Given the description of an element on the screen output the (x, y) to click on. 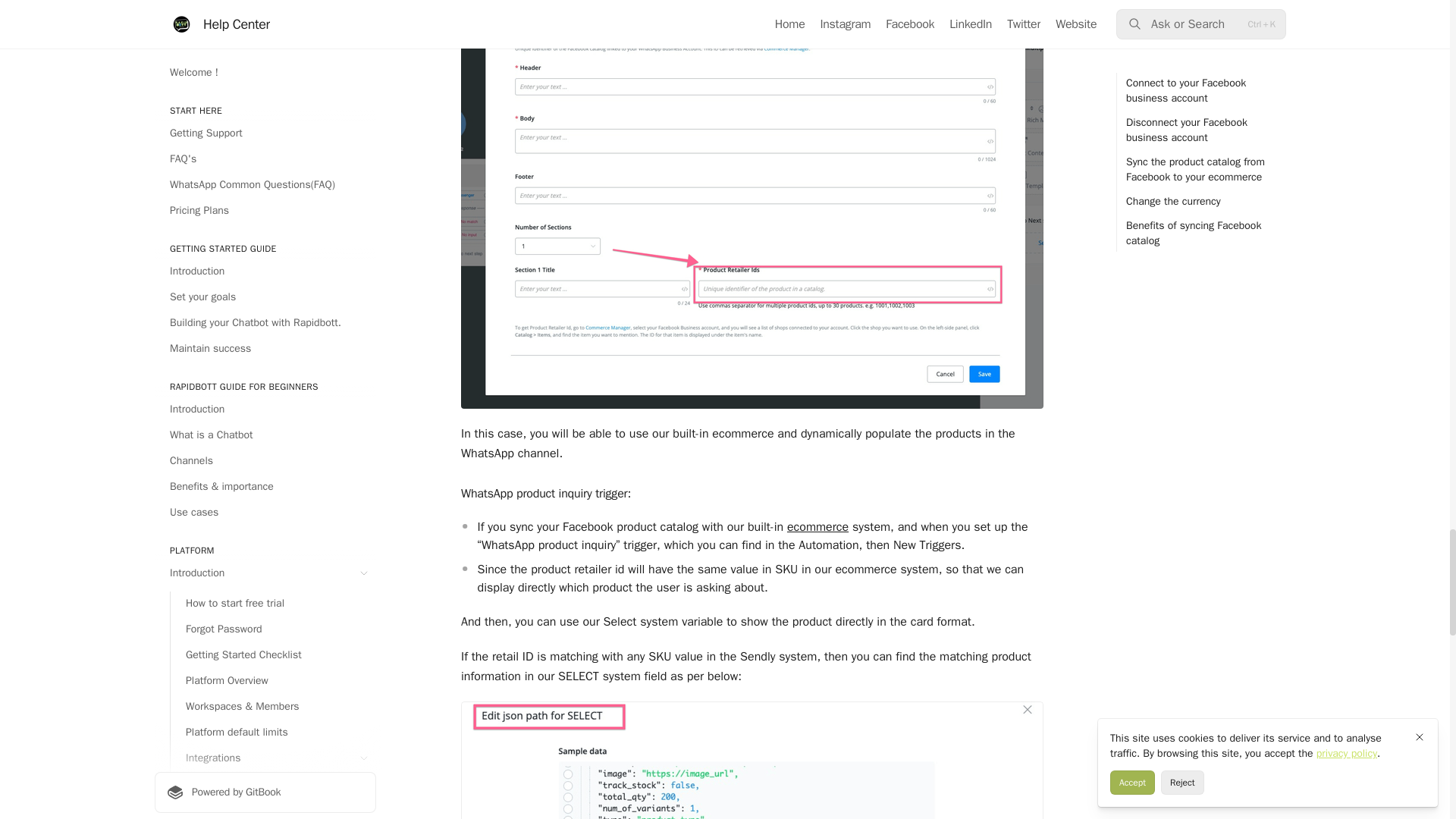
Broken link (817, 525)
